Given the description of an element on the screen output the (x, y) to click on. 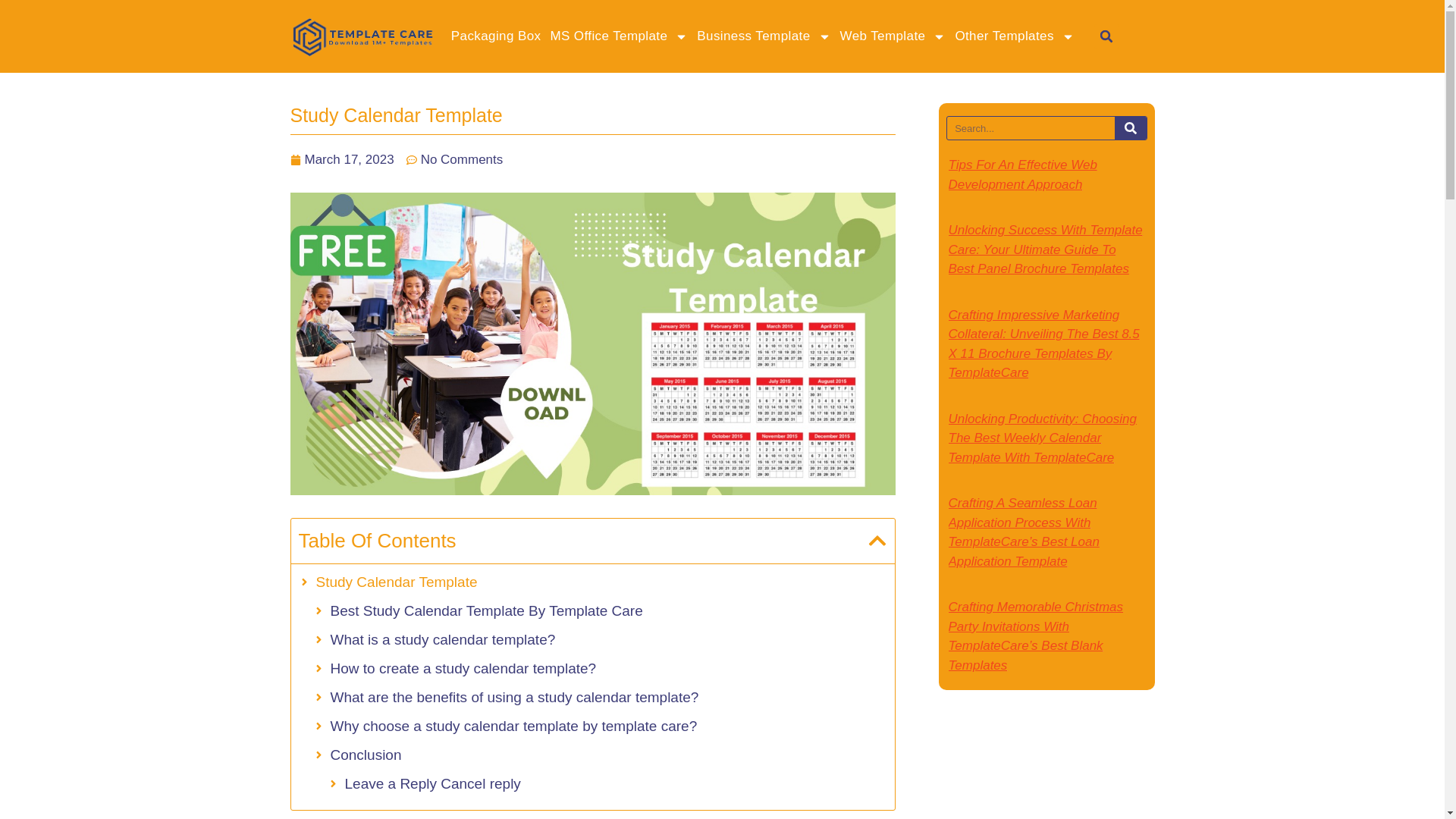
Business Template (763, 36)
How to create a study calendar template? (463, 669)
Why choose a study calendar template by template care? (513, 726)
Best Study Calendar Template By Template Care (486, 611)
Web Template (892, 36)
No Comments (454, 159)
Other Templates (1014, 36)
MS Office Template (618, 36)
Packaging Box (496, 36)
Study Calendar Template (396, 582)
